Given the description of an element on the screen output the (x, y) to click on. 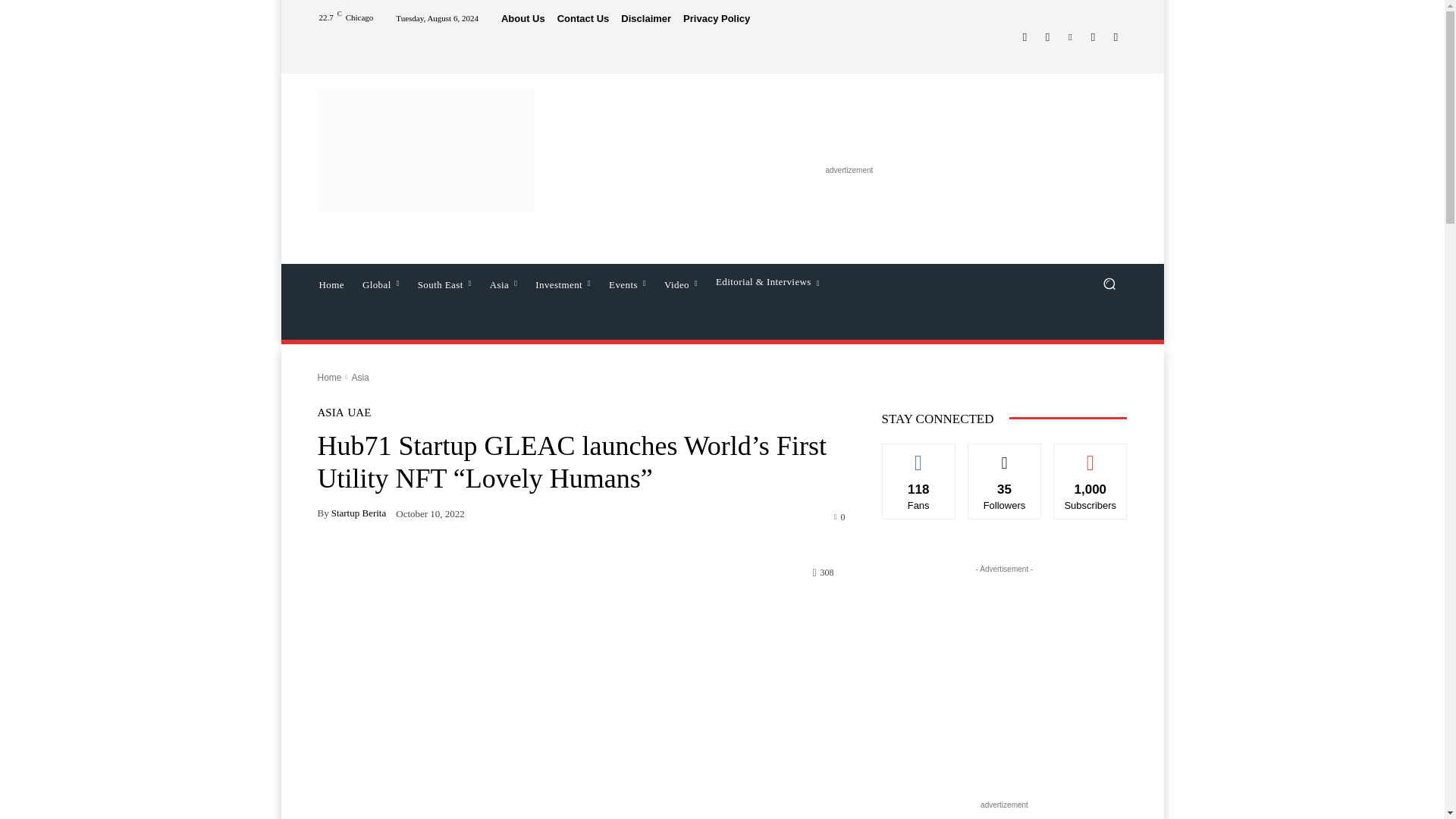
Global (381, 283)
Mail (1092, 36)
Instagram (1046, 36)
Disclaimer (646, 18)
About Us (522, 18)
Facebook (1024, 36)
Contact Us (583, 18)
Privacy Policy (715, 18)
Linkedin (1069, 36)
Twitter (1114, 36)
Home (330, 283)
